Given the description of an element on the screen output the (x, y) to click on. 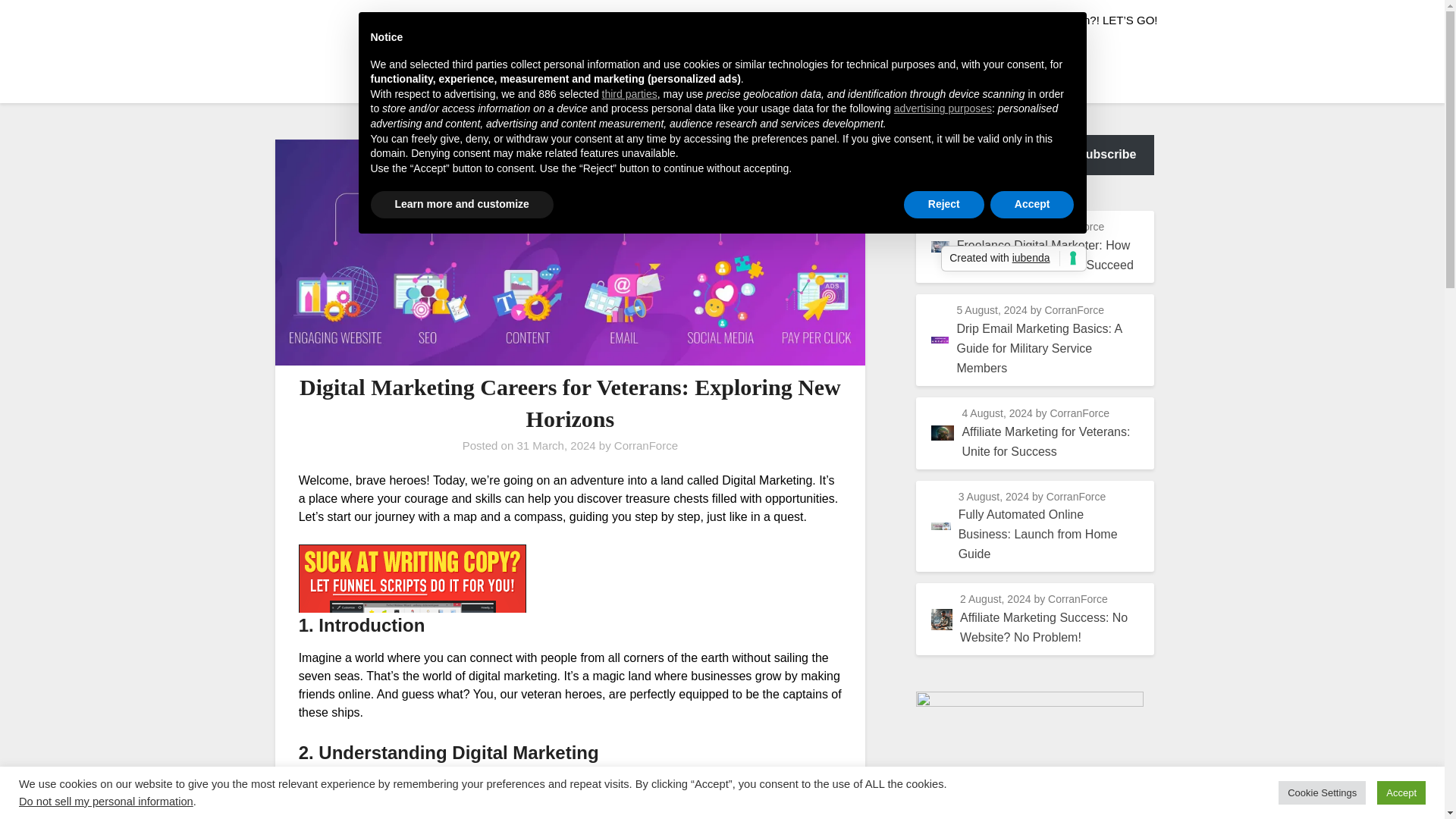
Please fill in this field. (983, 155)
Home (976, 20)
Subscribe (1106, 155)
CorranForce (646, 445)
31 March, 2024 (555, 445)
